Given the description of an element on the screen output the (x, y) to click on. 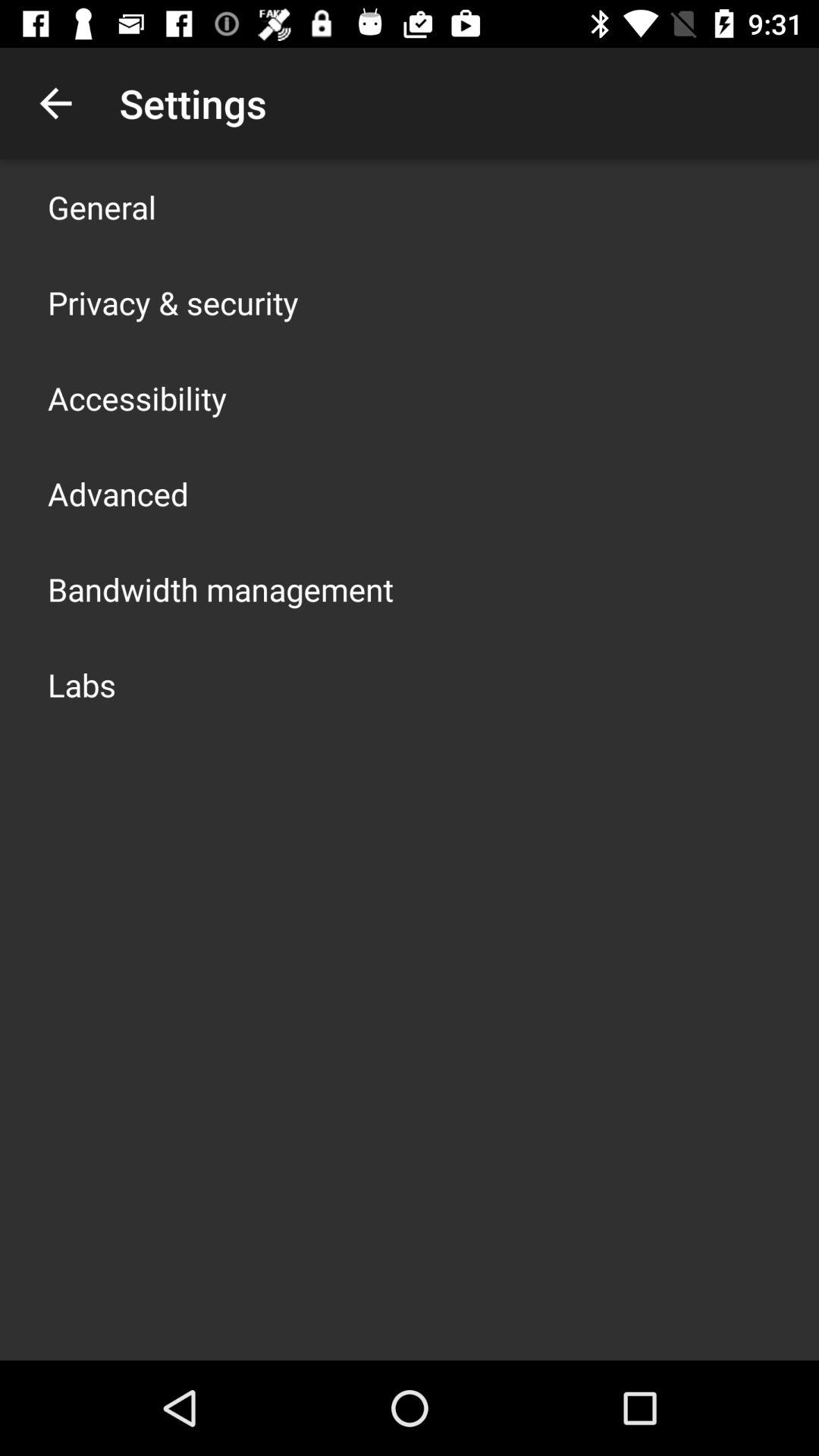
click item below the general item (172, 302)
